Given the description of an element on the screen output the (x, y) to click on. 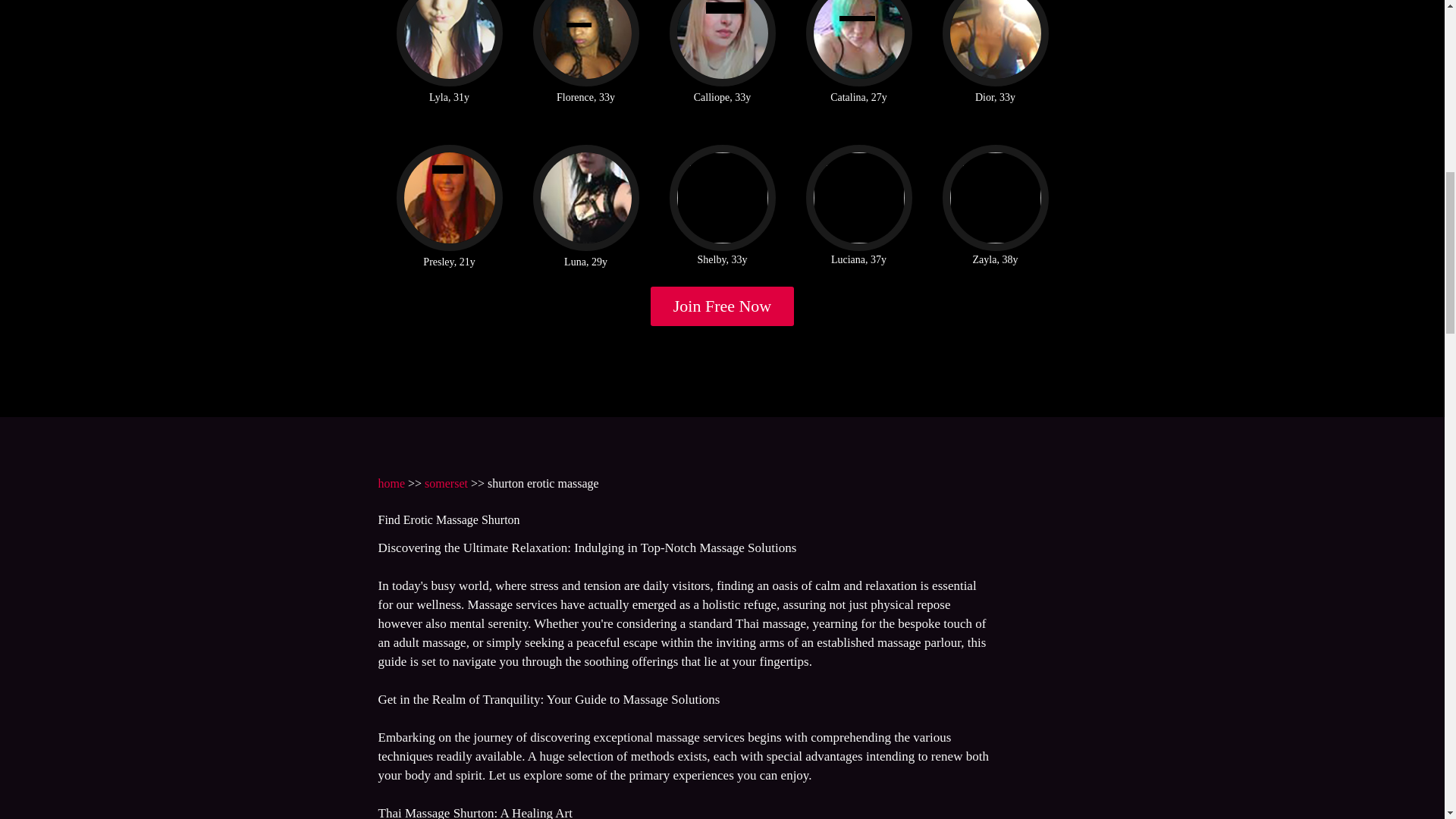
somerset (446, 482)
Join Free Now (722, 305)
Join (722, 305)
home (390, 482)
